Given the description of an element on the screen output the (x, y) to click on. 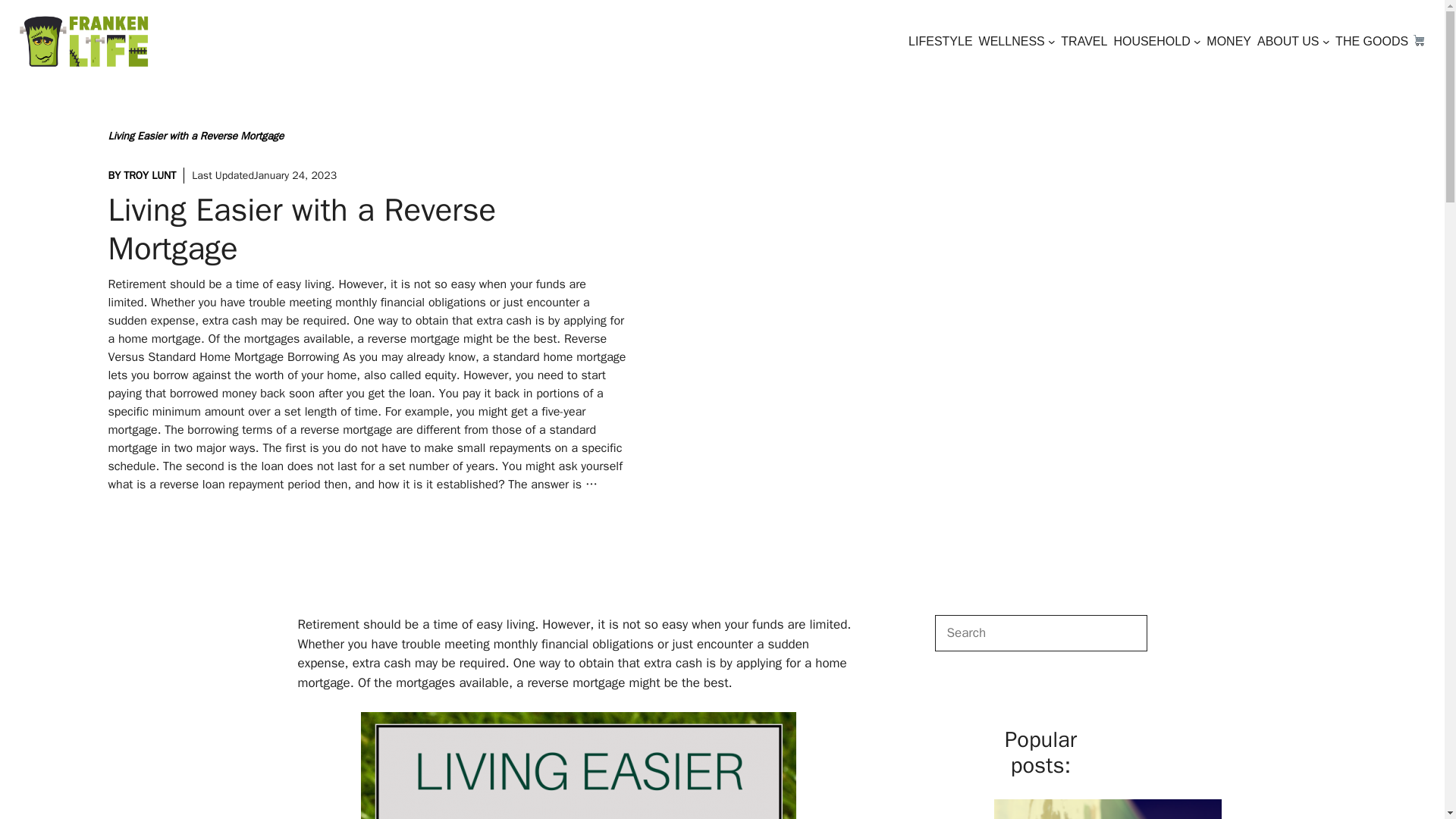
THE GOODS (1380, 41)
MONEY (1228, 41)
HOUSEHOLD (1151, 41)
TRAVEL (1083, 41)
WELLNESS (1011, 41)
ABOUT US (1288, 41)
cropped-Logo-Final-File-01.png (83, 41)
Most In-Demand Teaching Subjects (1106, 806)
LIFESTYLE (940, 41)
